Given the description of an element on the screen output the (x, y) to click on. 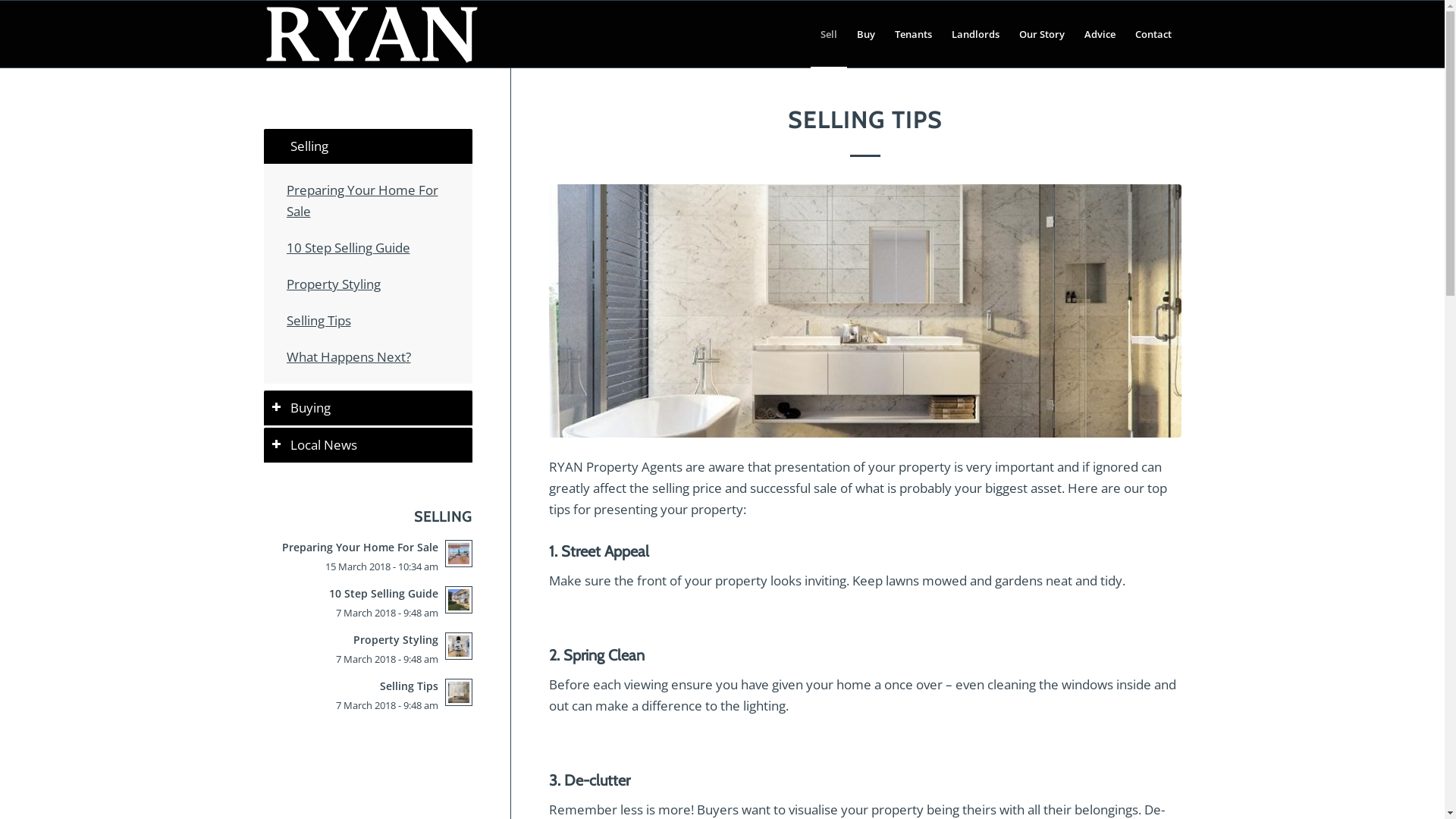
Tenants Element type: text (912, 33)
10 Step Selling Guide Element type: text (348, 247)
Bathroom 3 Element type: hover (864, 310)
10 Step Selling Guide
7 March 2018 - 9:48 am Element type: text (368, 602)
Selling Tips
7 March 2018 - 9:48 am Element type: text (368, 694)
Our Story Element type: text (1040, 33)
Property Styling
7 March 2018 - 9:48 am Element type: text (368, 648)
What Happens Next? Element type: text (348, 356)
Sell Element type: text (827, 33)
Selling Tips Element type: text (318, 320)
Contact Element type: text (1153, 33)
Buy Element type: text (865, 33)
Property Styling Element type: text (333, 283)
Advice Element type: text (1098, 33)
Landlords Element type: text (975, 33)
Preparing Your Home For Sale
15 March 2018 - 10:34 am Element type: text (368, 555)
Preparing Your Home For Sale Element type: text (362, 200)
